Given the description of an element on the screen output the (x, y) to click on. 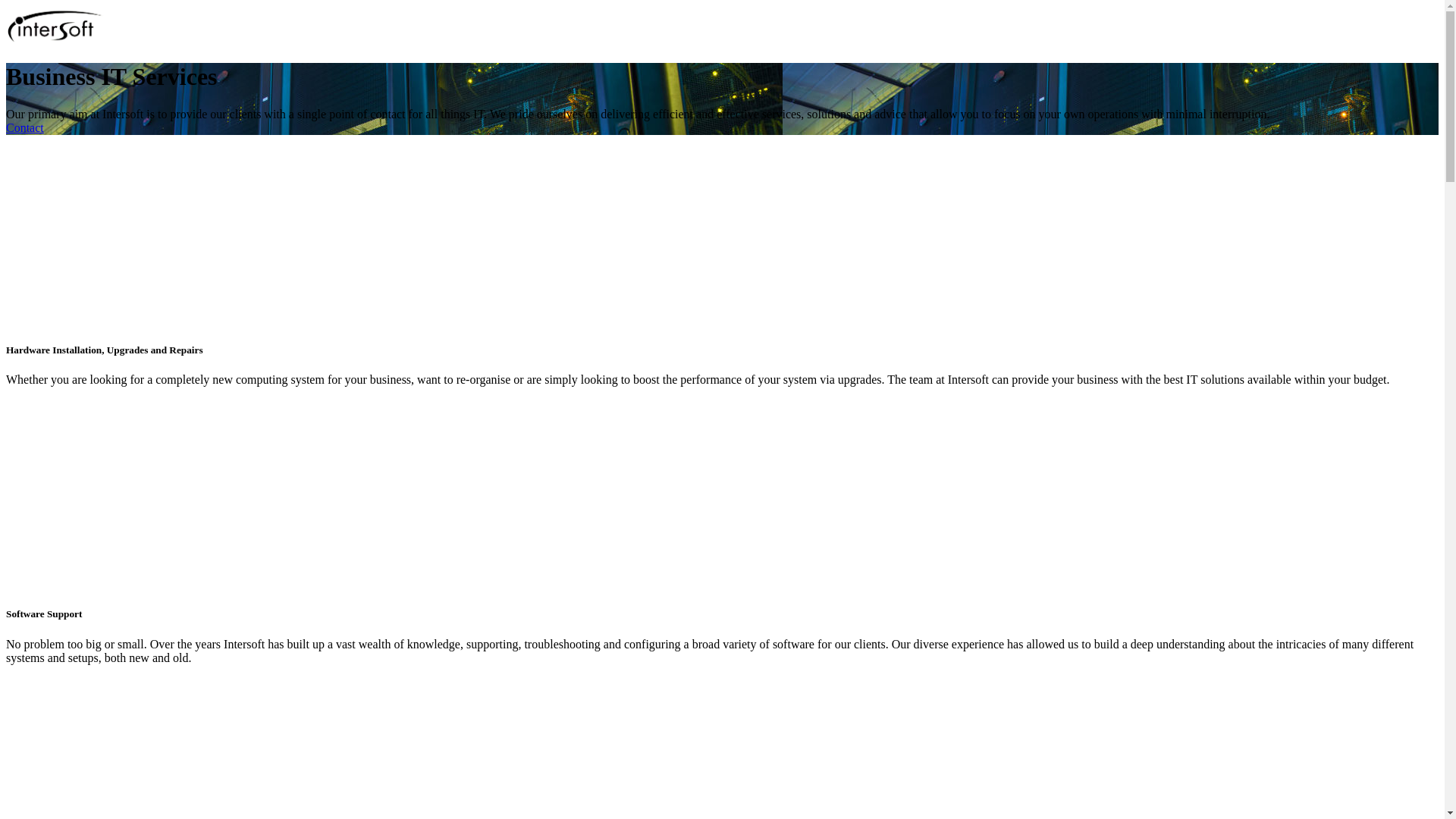
Contact Element type: text (24, 127)
